Given the description of an element on the screen output the (x, y) to click on. 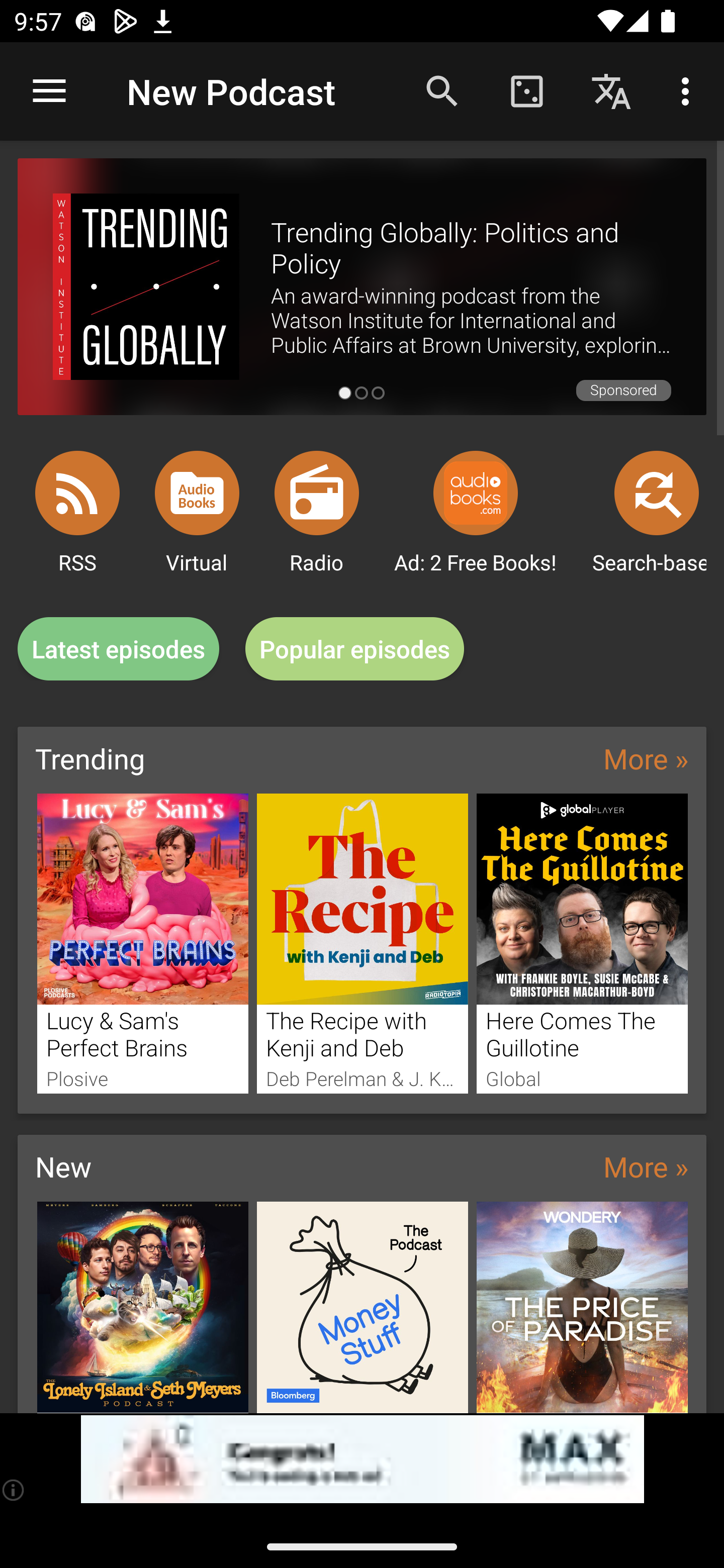
Open navigation sidebar (49, 91)
Search (442, 90)
Random pick (526, 90)
Podcast languages (611, 90)
More options (688, 90)
RSS (77, 492)
Virtual (196, 492)
Radio (316, 492)
Search-based (656, 492)
Latest episodes (118, 648)
Popular episodes (354, 648)
More » (645, 757)
Lucy & Sam's Perfect Brains Plosive (142, 942)
Here Comes The Guillotine Global (581, 942)
More » (645, 1166)
The Lonely Island and Seth Meyers Podcast (142, 1306)
Money Stuff: The Podcast (362, 1306)
The Price of Paradise (581, 1306)
app-monetization (362, 1459)
(i) (14, 1489)
